Given the description of an element on the screen output the (x, y) to click on. 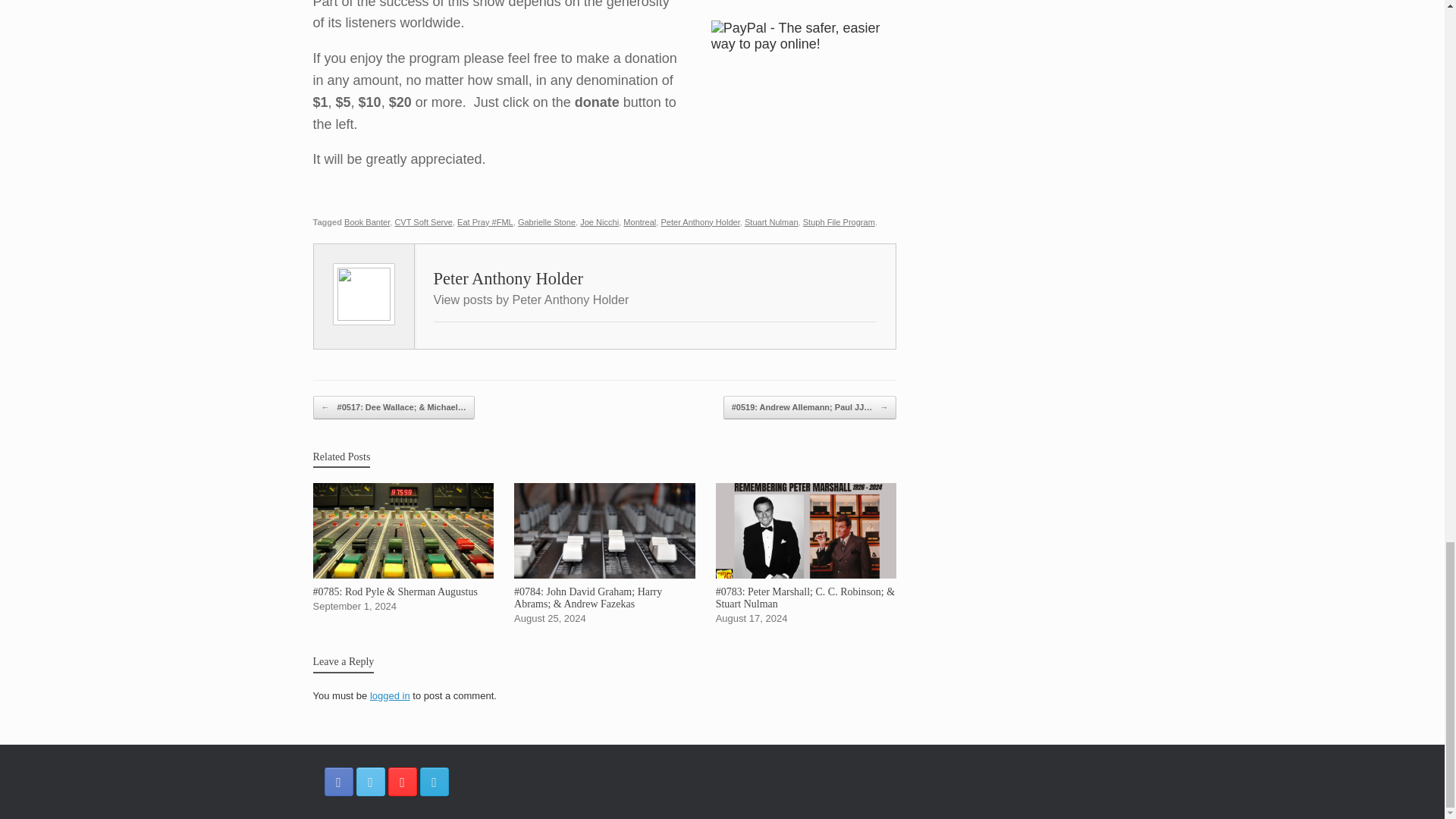
Montreal (639, 221)
CVT Soft Serve (423, 221)
The Stuph File YouTube (402, 781)
Peter Anthony Holder (700, 221)
Joe Nicchi (598, 221)
Stuph File Program (839, 221)
Stuart Nulman (770, 221)
The Stuph File Email (434, 781)
Book Banter (366, 221)
The Stuph File Facebook (338, 781)
